Given the description of an element on the screen output the (x, y) to click on. 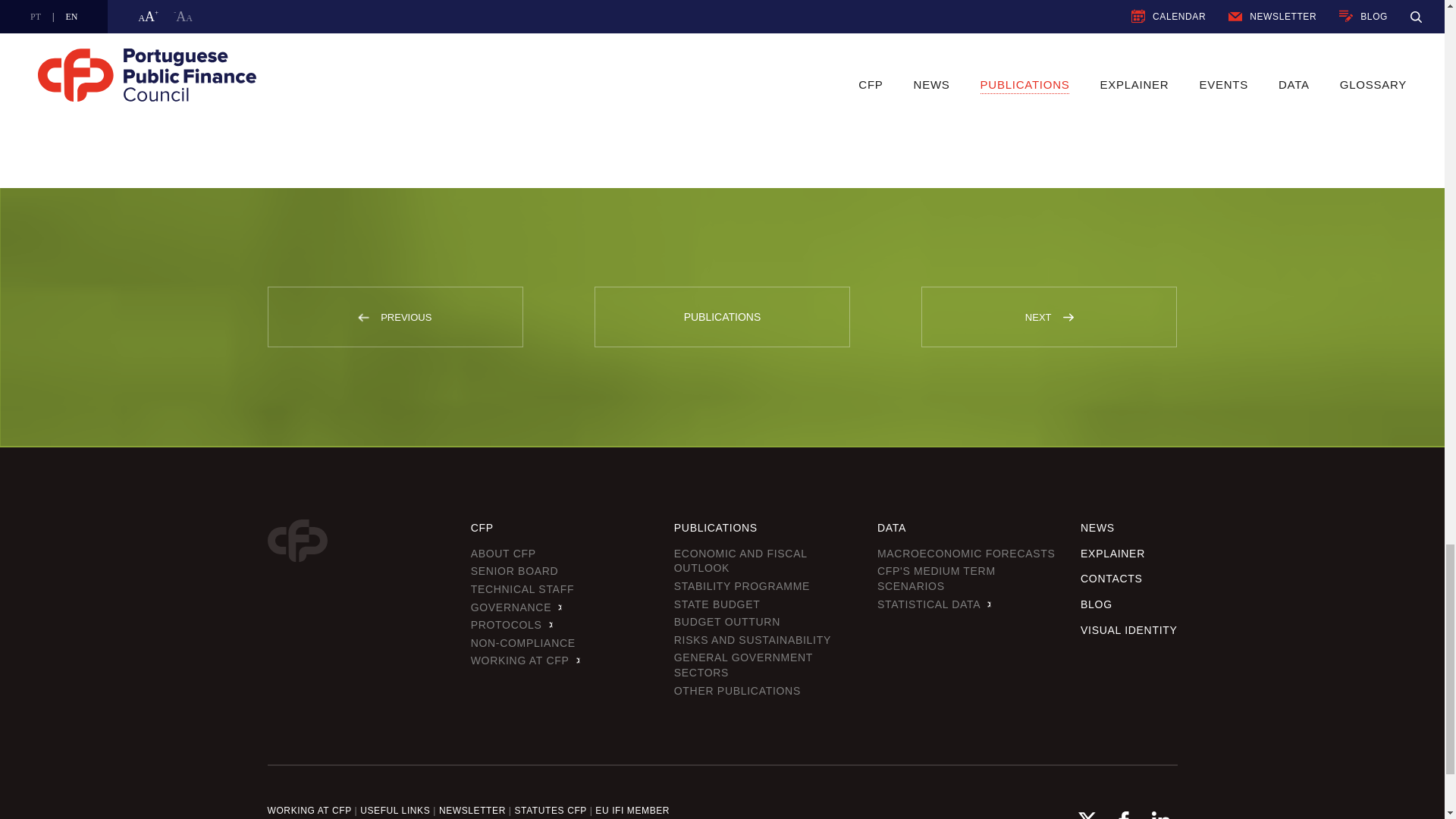
TECHNICAL STAFF (522, 589)
PROTOCOLS (511, 625)
Next (1068, 316)
NEXT (1048, 316)
OTHER PUBLICATIONS (341, 103)
PREVIOUS (394, 316)
Logo CFP (296, 540)
PUBLICATIONS (722, 316)
SENIOR BOARD (514, 571)
NON-COMPLIANCE (522, 643)
Previous (363, 316)
GOVERNANCE (516, 607)
ABOUT CFP (502, 553)
